Given the description of an element on the screen output the (x, y) to click on. 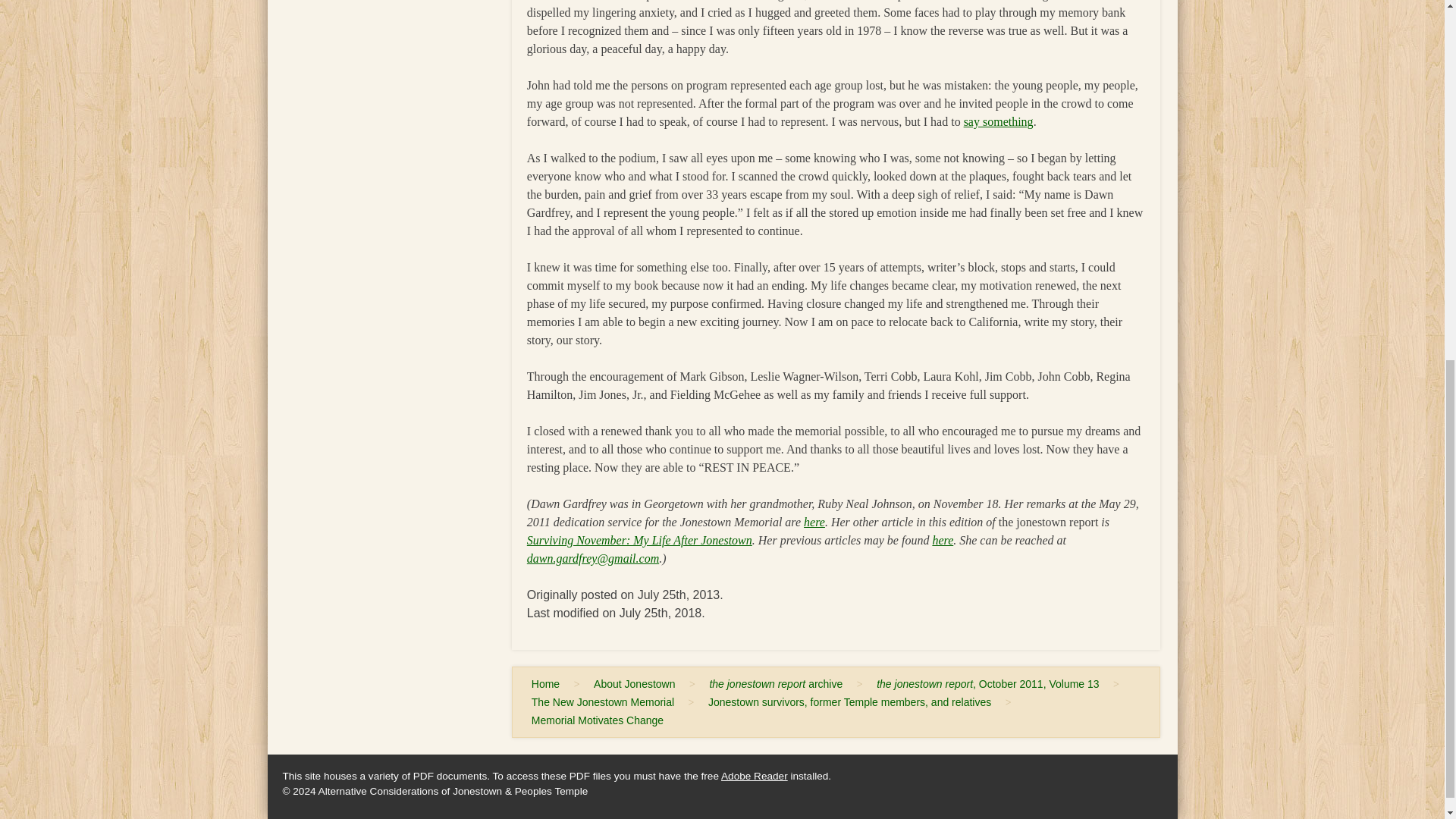
The New Jonestown Memorial (602, 701)
About Jonestown (634, 683)
About Jonestown (634, 683)
Jonestown survivors, former Temple members, and relatives (849, 701)
Memorial Motivates Change (597, 720)
here (814, 521)
here (942, 540)
Surviving November: My Life After Jonestown (639, 540)
the jonestown report, October 2011, Volume 13 (987, 683)
Home (545, 683)
Memorial Motivates Change (597, 720)
Jonestown survivors, former Temple members, and relatives (849, 701)
say something (998, 121)
The New Jonestown Memorial (602, 701)
the jonestown report archive (775, 683)
